Given the description of an element on the screen output the (x, y) to click on. 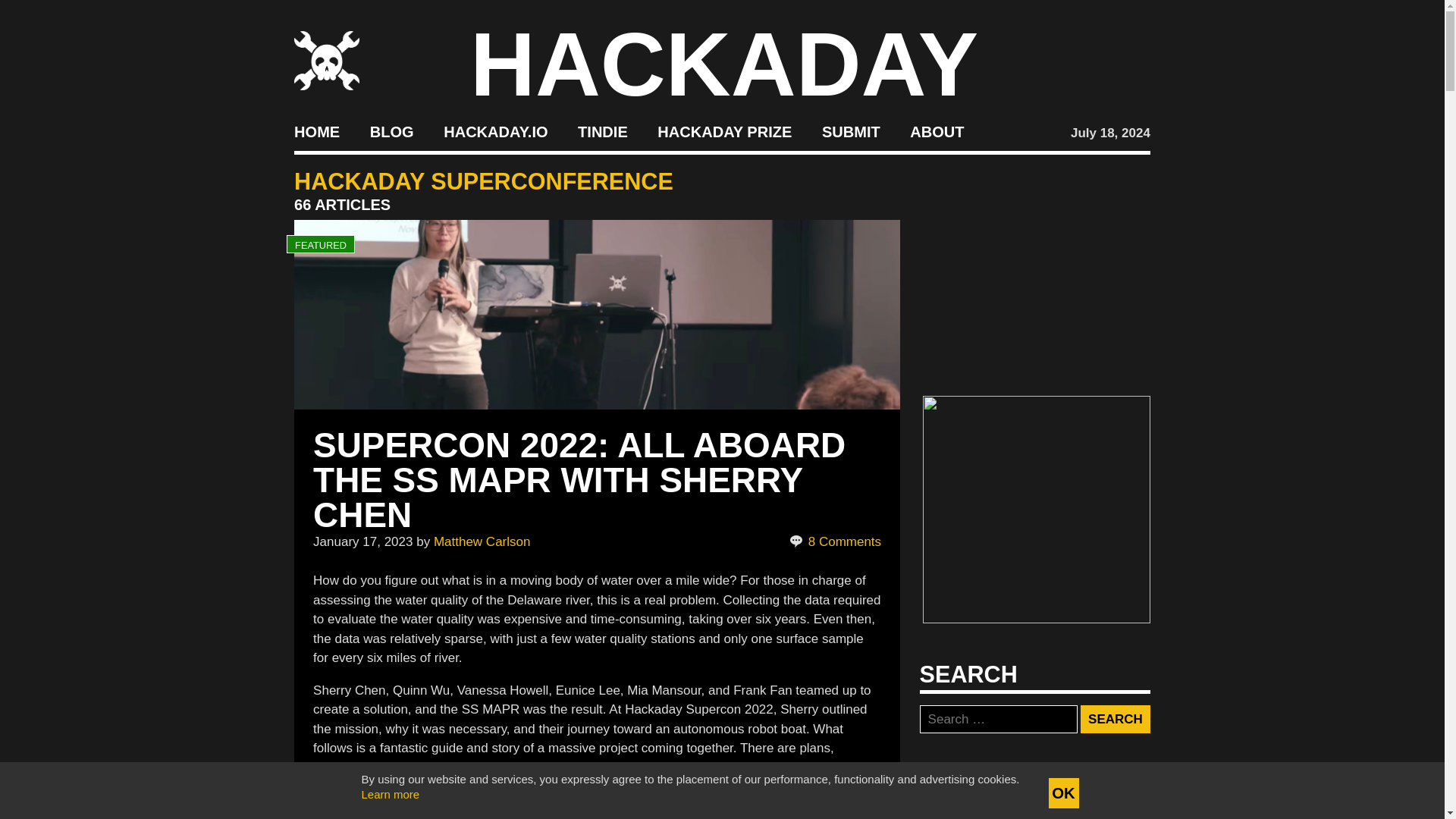
SUBMIT (851, 131)
Matthew Carlson (482, 541)
HOME (316, 131)
Search (1115, 719)
Posts by Matthew Carlson (482, 541)
Search (1115, 719)
BLOG (391, 131)
January 17, 2023 (362, 541)
January 17, 2023 - 10:02 am (362, 541)
8 Comments (834, 542)
HACKADAY PRIZE (725, 131)
SUPERCON 2022: ALL ABOARD THE SS MAPR WITH SHERRY CHEN (579, 479)
TINDIE (602, 131)
HACKADAY (724, 63)
